Given the description of an element on the screen output the (x, y) to click on. 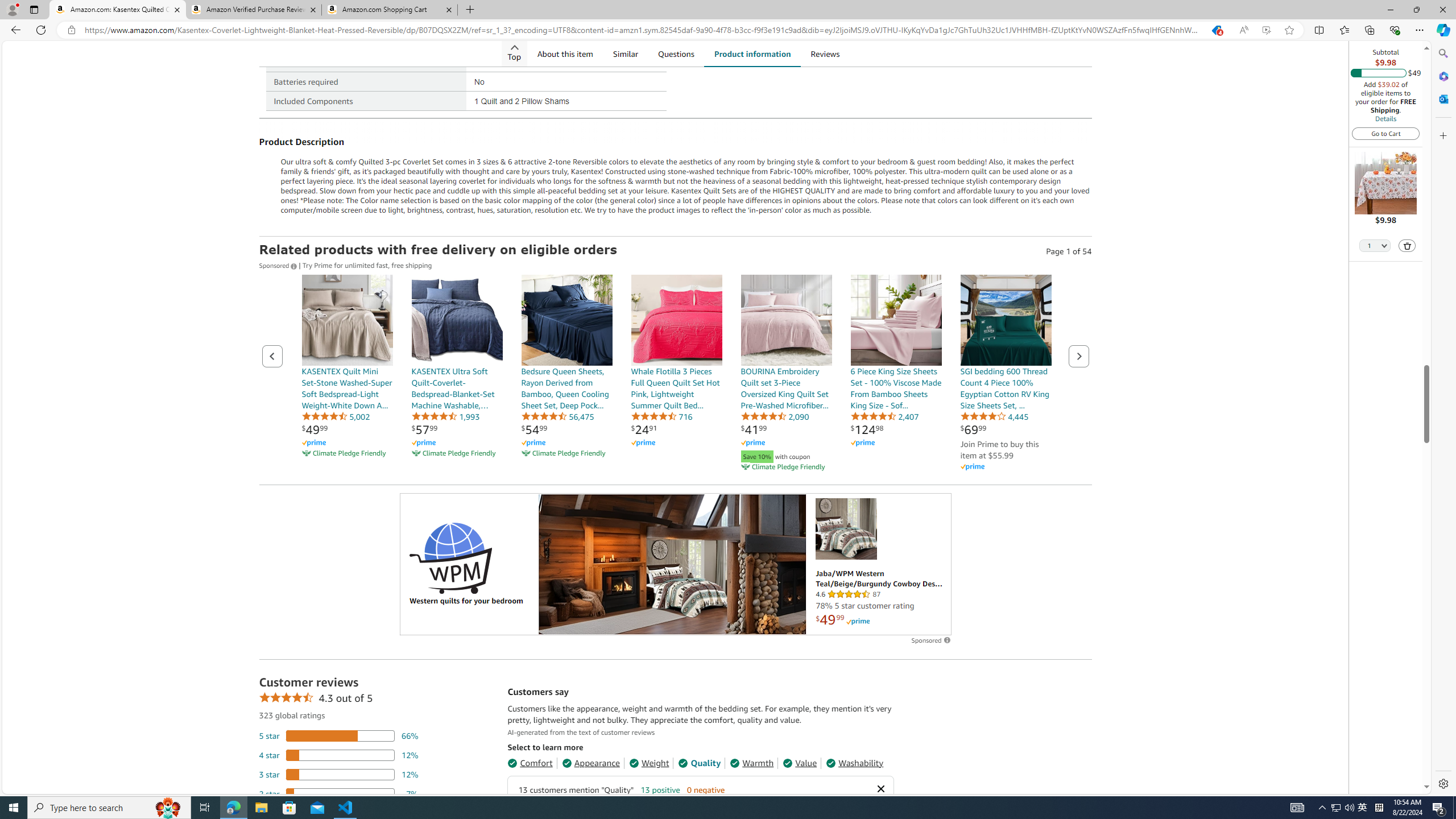
Save 10% with coupon (786, 454)
56,475 (557, 416)
Quality (699, 762)
1,993 (445, 416)
$124.98 (866, 429)
Top (513, 53)
Logo (450, 557)
